Given the description of an element on the screen output the (x, y) to click on. 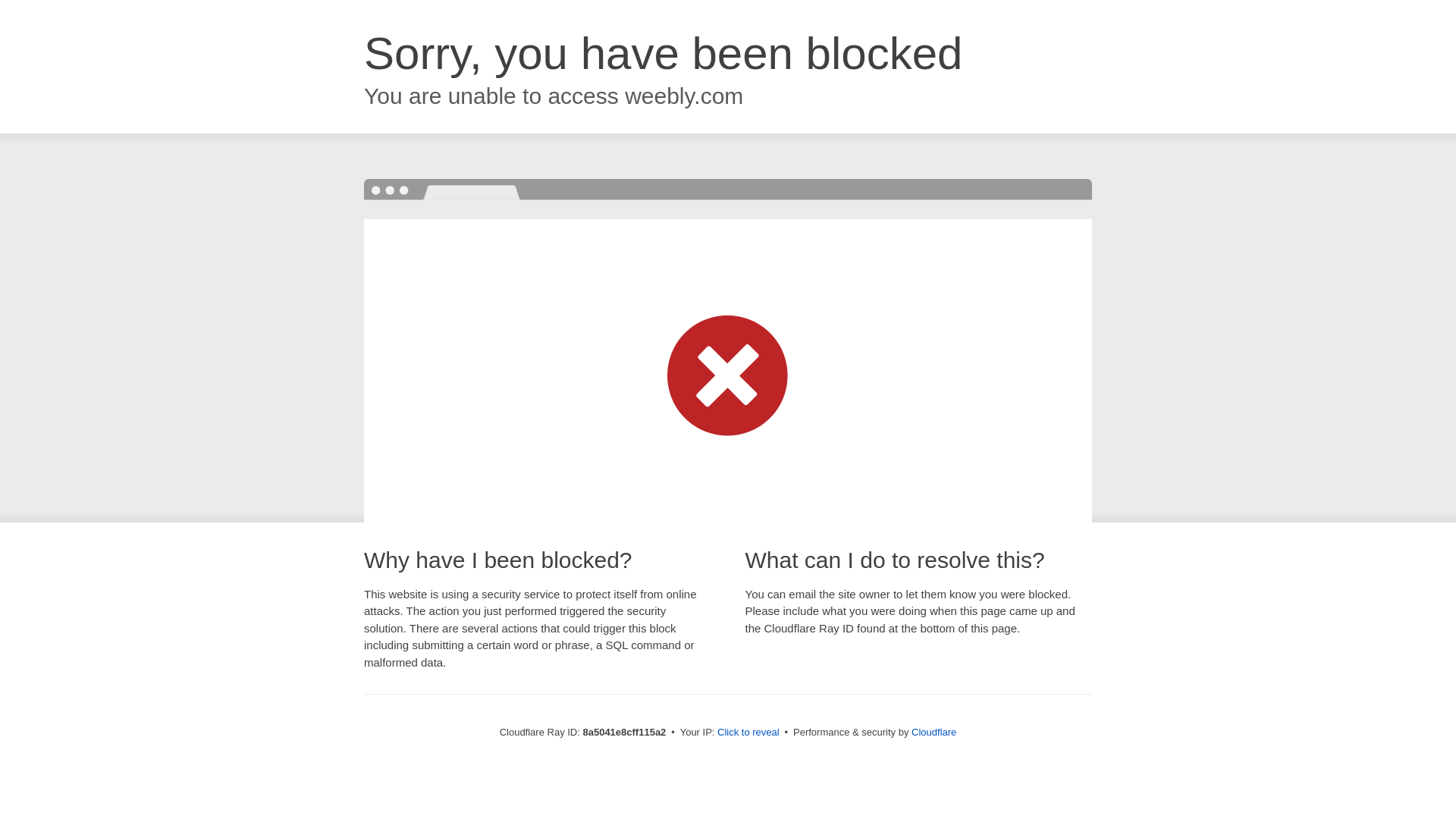
Cloudflare (933, 731)
Click to reveal (747, 732)
